Given the description of an element on the screen output the (x, y) to click on. 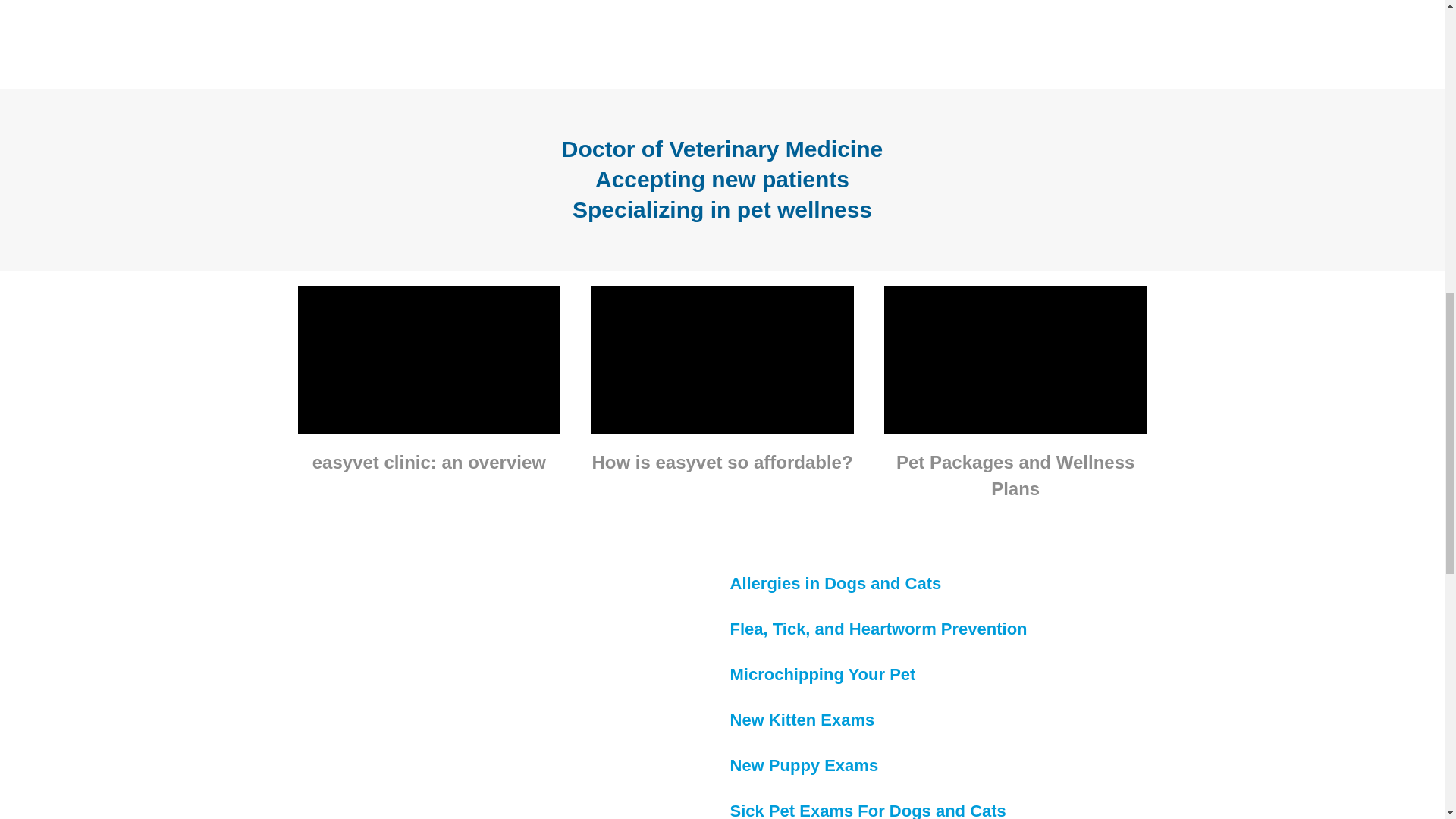
Flea, Tick, and Heartworm Prevention (877, 628)
Microchipping Your Pet (822, 674)
vimeo Video Player (722, 359)
Allergies in Dogs and Cats (834, 583)
New Puppy Exams (803, 764)
vimeo Video Player (1015, 359)
vimeo Video Player (428, 359)
Sick Pet Exams For Dogs and Cats (867, 810)
New Kitten Exams (802, 719)
